Given the description of an element on the screen output the (x, y) to click on. 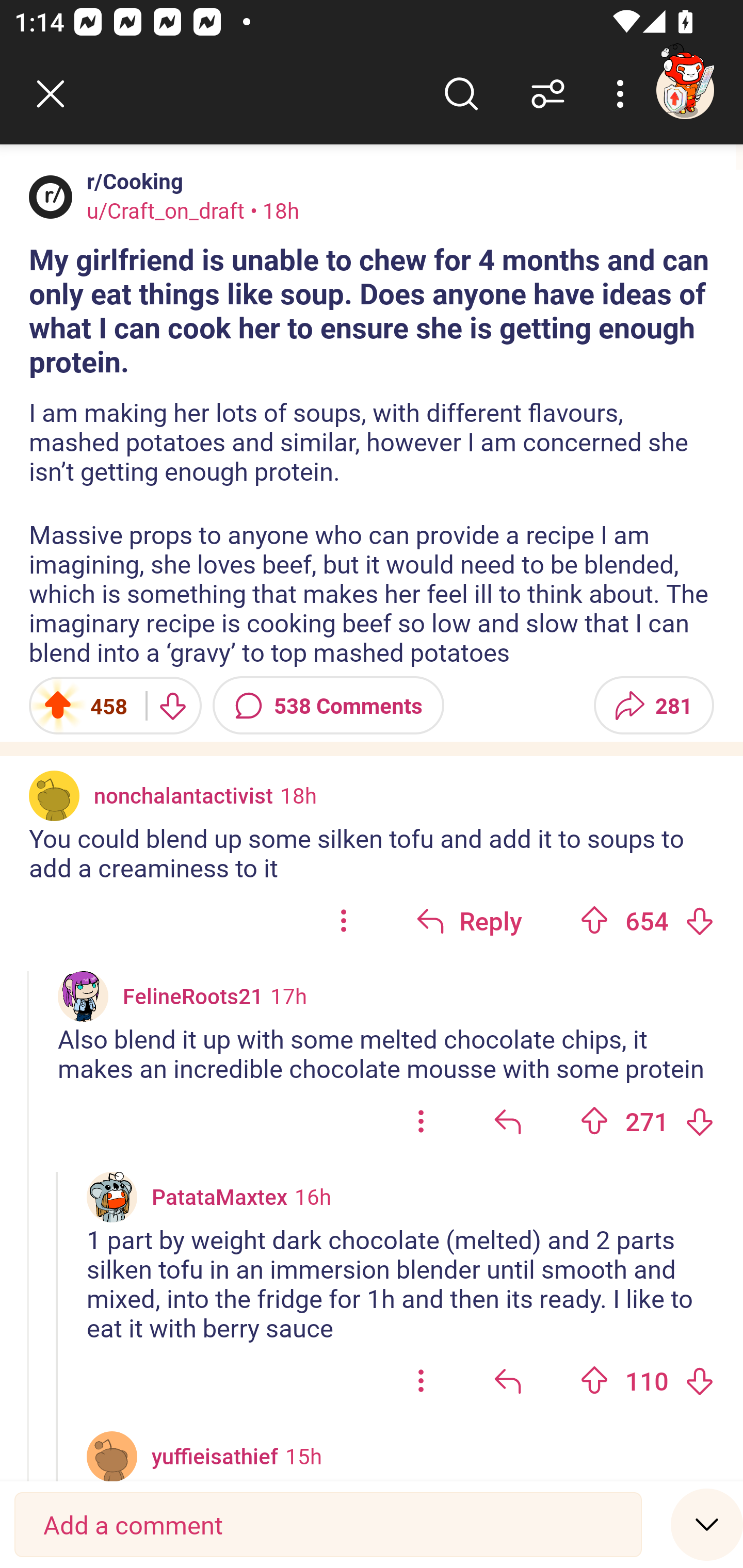
Back (50, 93)
TestAppium002 account (685, 90)
Search comments (460, 93)
Sort comments (547, 93)
More options (623, 93)
r/Cooking (131, 181)
Avatar (50, 196)
u/Craft_on_draft (165, 210)
Upvote 458 Downvote 538 Comments Share 281 (371, 705)
Downvote (171, 705)
538 Comments (328, 705)
Share 281 (653, 705)
Avatar (53, 795)
18h (298, 794)
options (343, 920)
Reply (469, 920)
Upvote 654 654 votes Downvote (647, 920)
Upvote (594, 920)
Downvote (699, 920)
Custom avatar (82, 996)
17h (288, 995)
options (420, 1121)
Upvote 271 271 votes Downvote (647, 1121)
Upvote (594, 1121)
Downvote (699, 1121)
Custom avatar (111, 1197)
16h (312, 1196)
options (420, 1381)
Upvote 110 110 votes Downvote (647, 1381)
Upvote (594, 1380)
Downvote (699, 1380)
Avatar (111, 1456)
15h (303, 1455)
Speed read (706, 1524)
Add a comment (327, 1524)
